Given the description of an element on the screen output the (x, y) to click on. 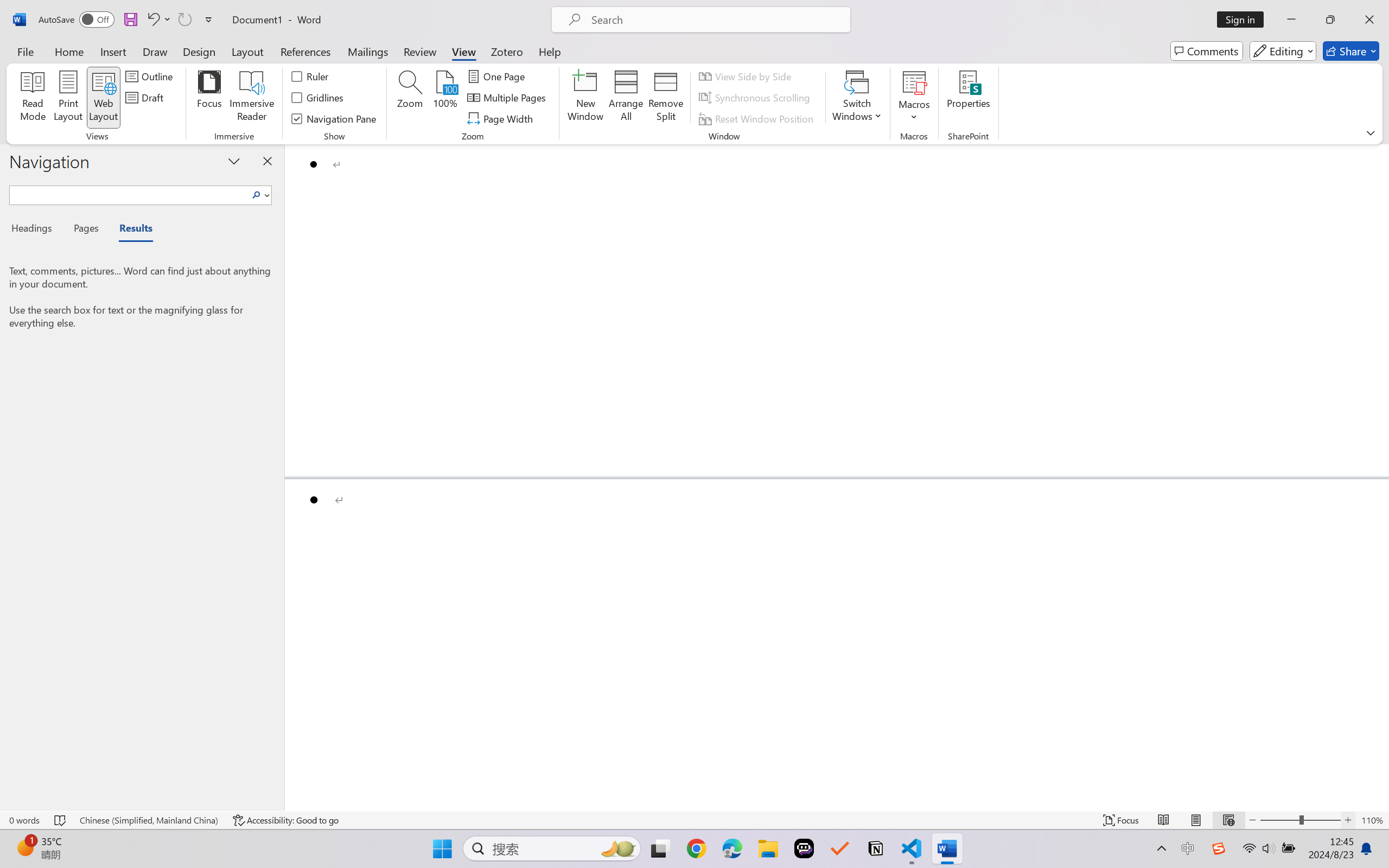
Gridlines (317, 97)
Switch Windows (856, 97)
Reset Window Position (757, 118)
Results (130, 229)
View Macros (914, 81)
Search document (128, 193)
Outline (150, 75)
Undo Bullet Default (152, 19)
100% (445, 97)
